Given the description of an element on the screen output the (x, y) to click on. 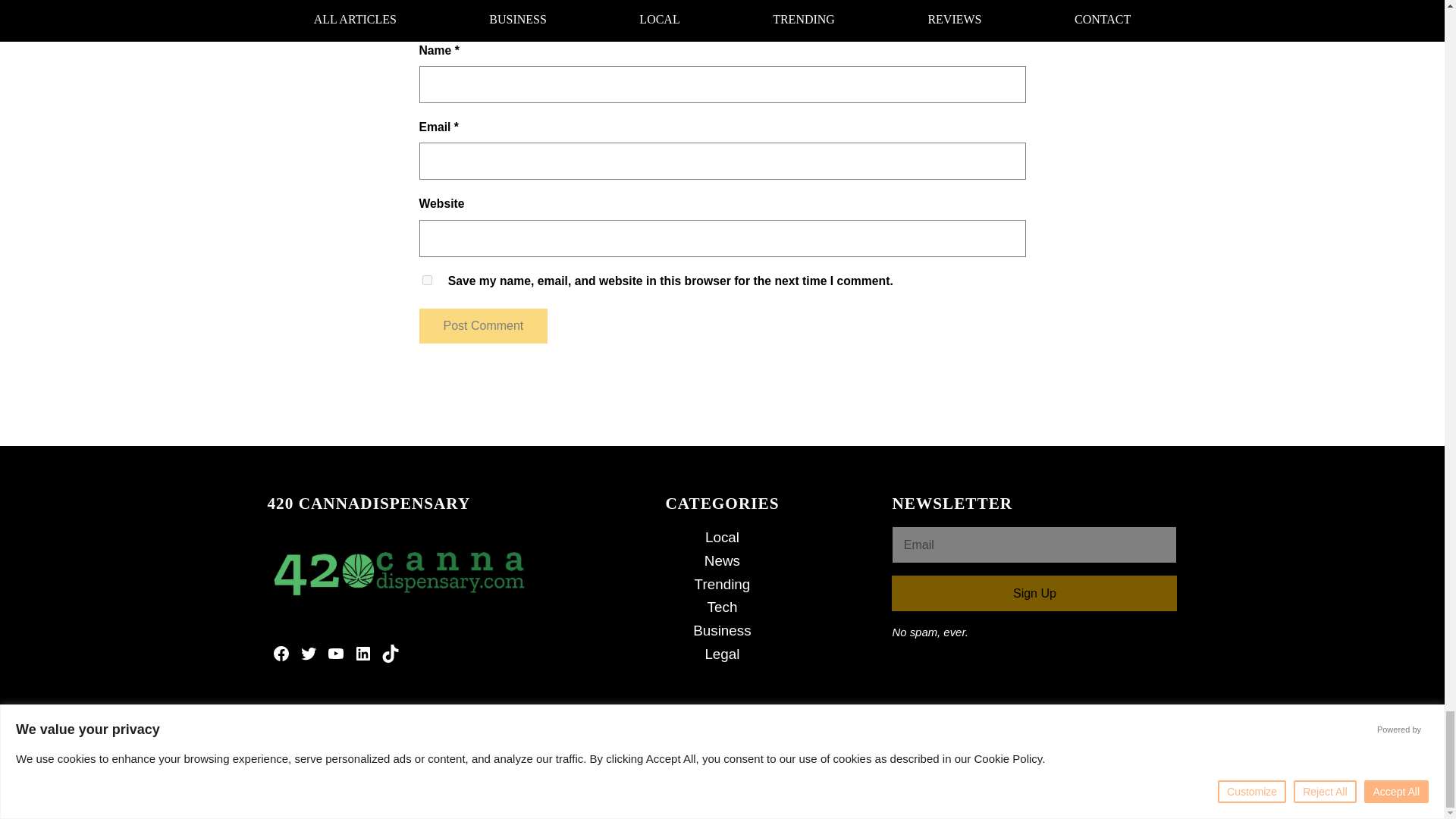
yes (426, 280)
Sign Up (1033, 592)
Post Comment (483, 325)
